Given the description of an element on the screen output the (x, y) to click on. 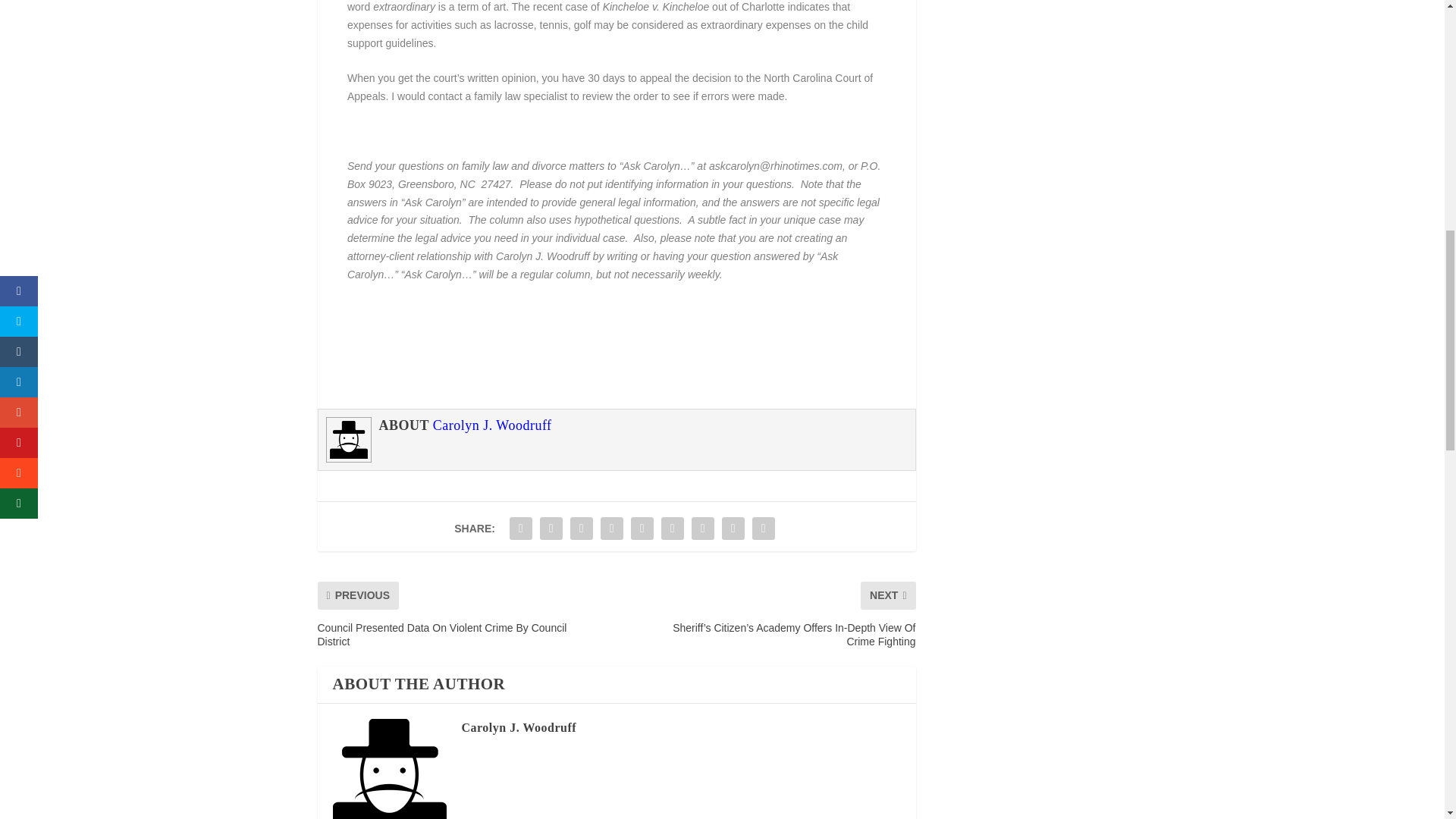
View all posts by Carolyn J. Woodruff (518, 727)
Share "Ask Carolyn: July 30, 2021" via LinkedIn (672, 528)
Share "Ask Carolyn: July 30, 2021" via Facebook (520, 528)
Share "Ask Carolyn: July 30, 2021" via Twitter (550, 528)
Share "Ask Carolyn: July 30, 2021" via Buffer (702, 528)
Share "Ask Carolyn: July 30, 2021" via Pinterest (642, 528)
Share "Ask Carolyn: July 30, 2021" via Tumblr (611, 528)
Share "Ask Carolyn: July 30, 2021" via Email (732, 528)
Share "Ask Carolyn: July 30, 2021" via Print (763, 528)
